Given the description of an element on the screen output the (x, y) to click on. 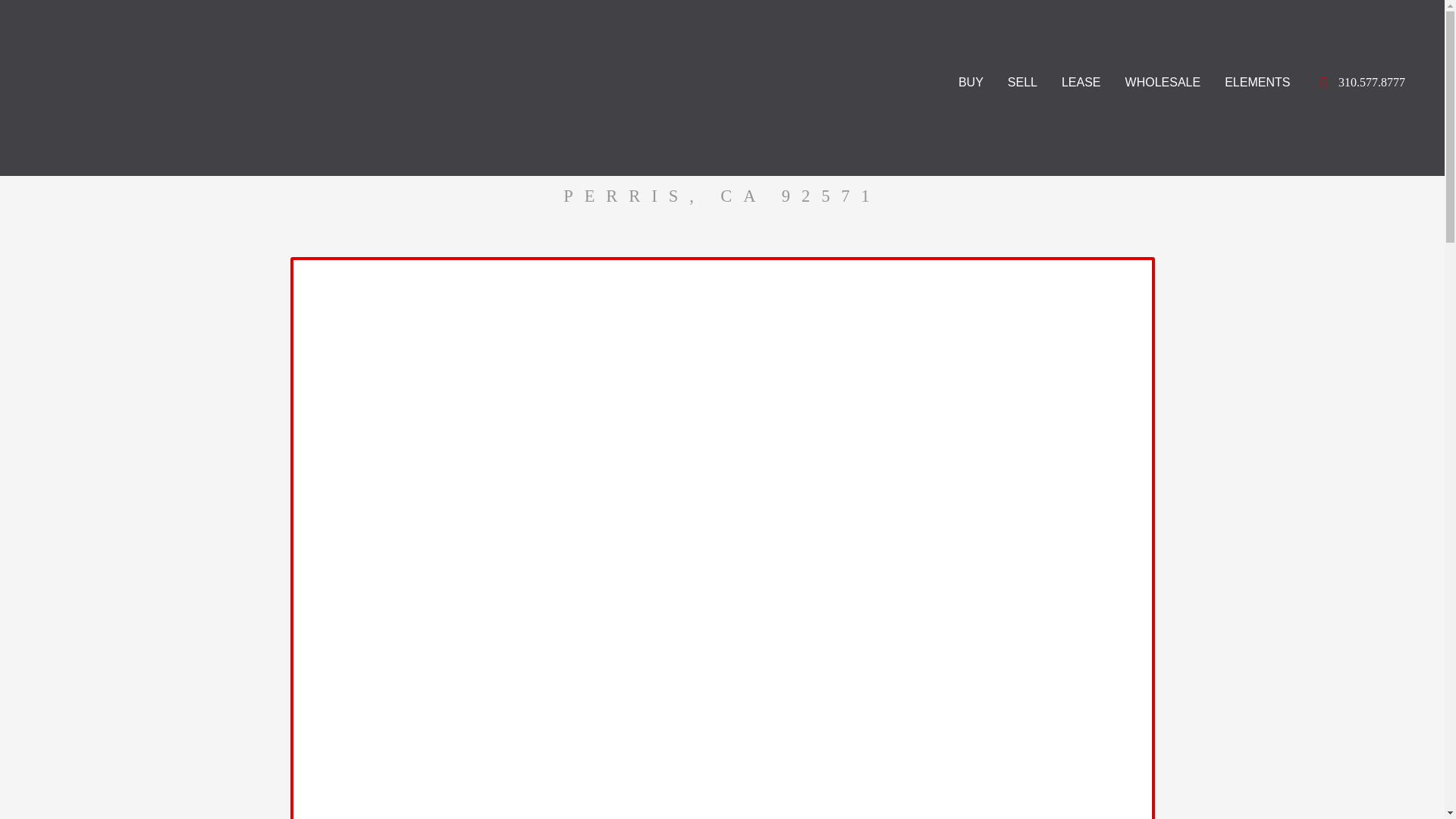
WHOLESALE (1162, 82)
SELL (1022, 82)
LEASE (1081, 82)
310.577.8777 (1368, 82)
BUY (970, 82)
ELEMENTS (1256, 82)
